Given the description of an element on the screen output the (x, y) to click on. 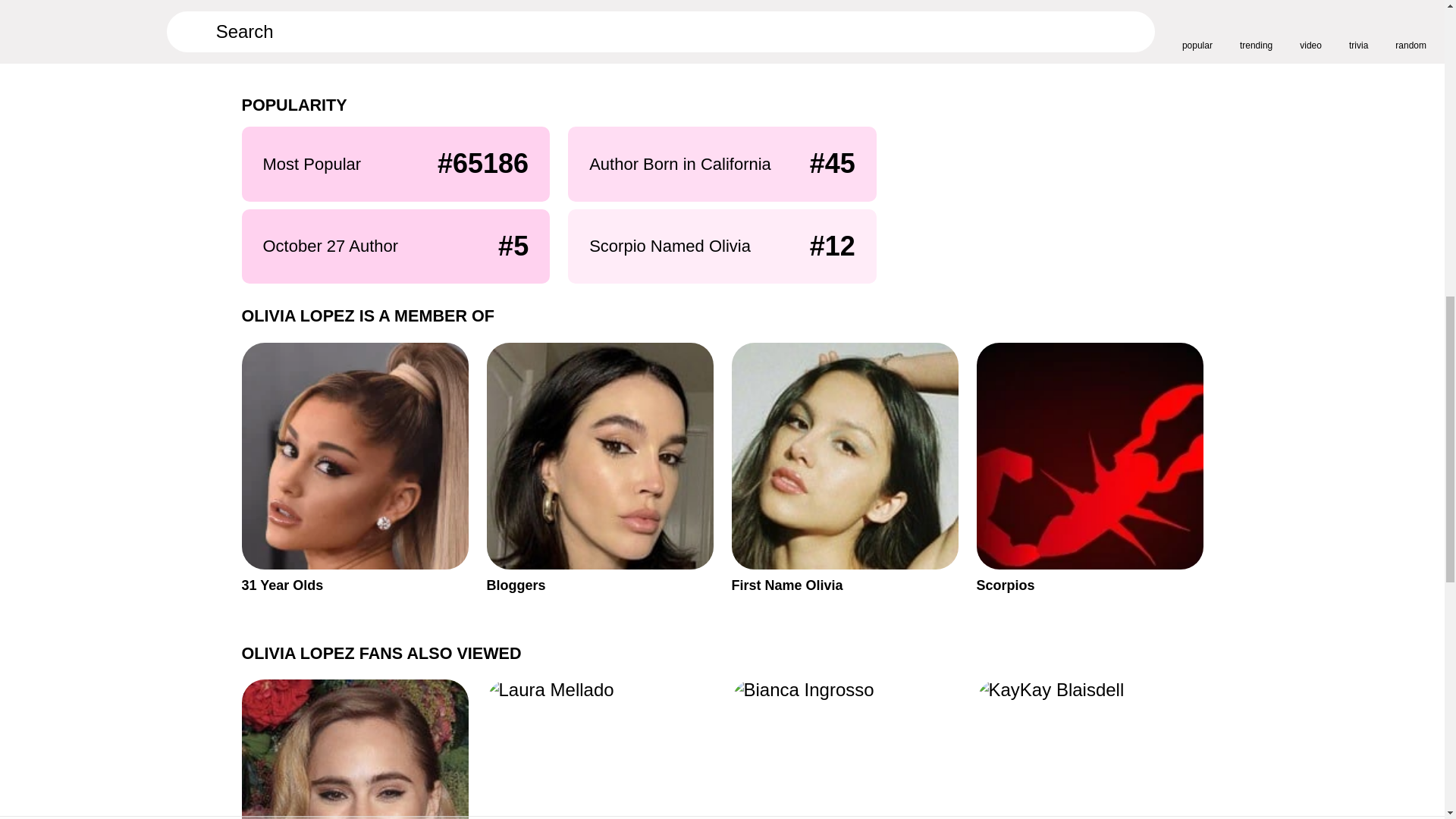
31 Year Olds (354, 749)
Scorpios (354, 468)
Bloggers (1090, 749)
First Name Olivia (1090, 468)
Suki Waterhouse (599, 468)
